Given the description of an element on the screen output the (x, y) to click on. 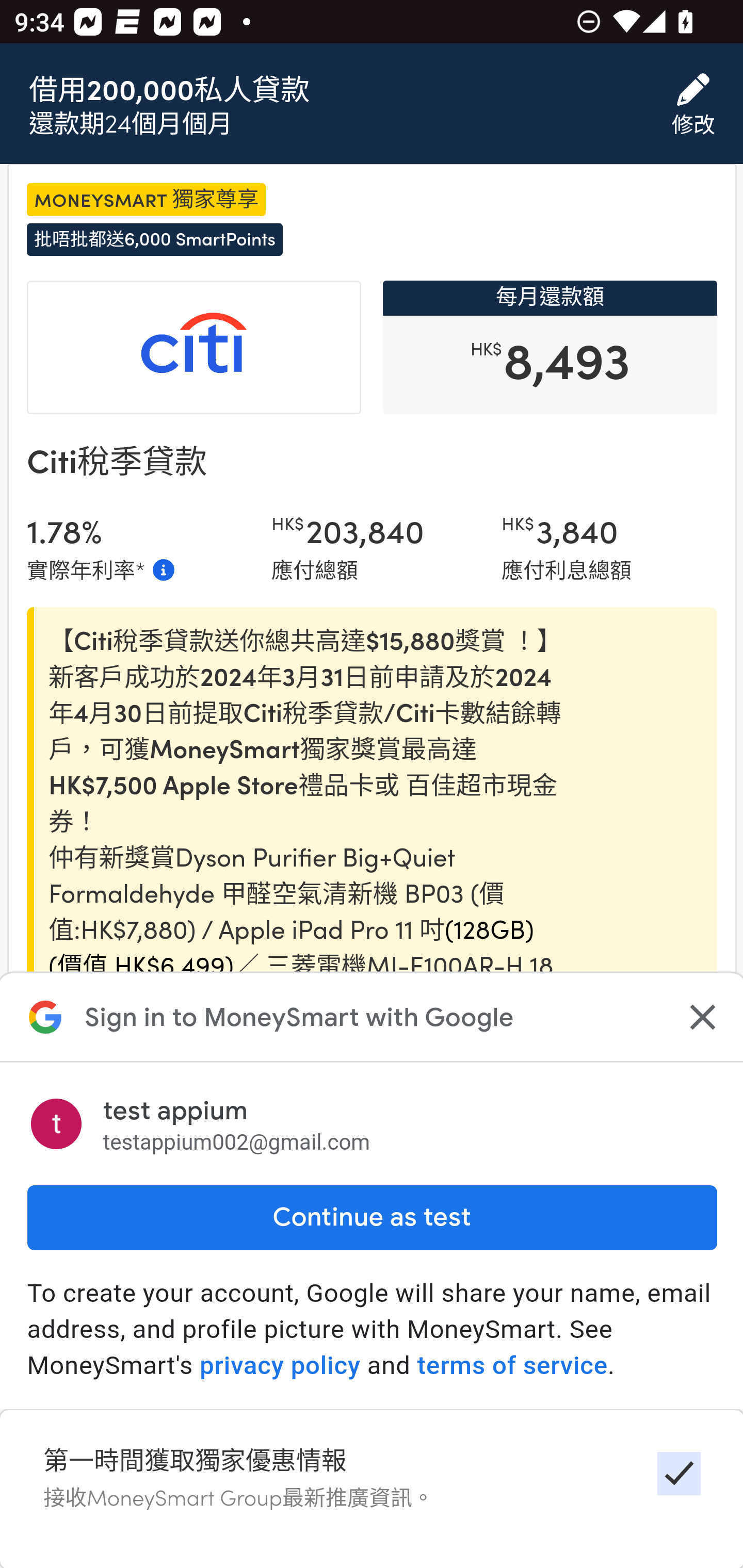
修改 (692, 104)
Citibank 花旗銀行 logo (193, 348)
Citi稅季貸款 (116, 461)
Close (700, 1017)
Continue as test (371, 1217)
privacy policy (279, 1365)
terms of service (511, 1365)
